Given the description of an element on the screen output the (x, y) to click on. 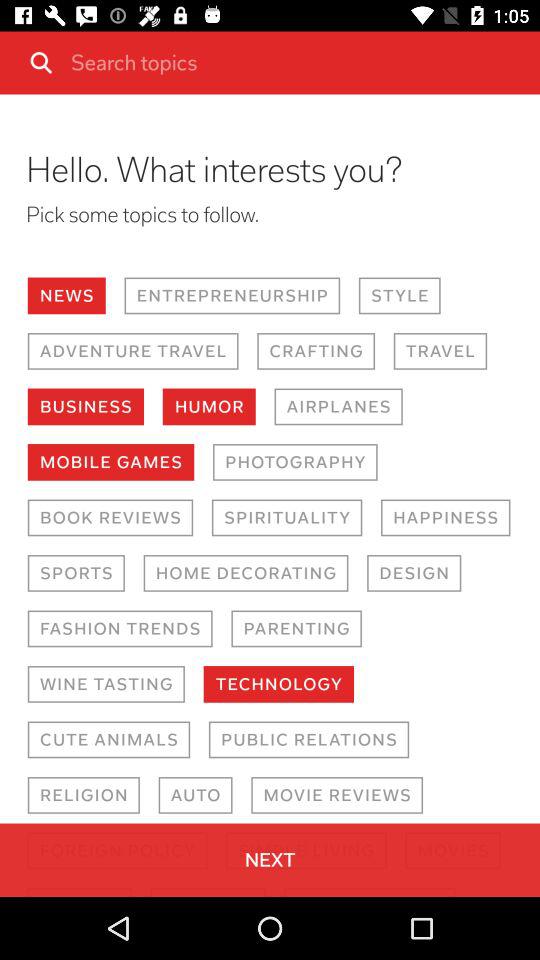
turn off the item next to the style icon (232, 295)
